Given the description of an element on the screen output the (x, y) to click on. 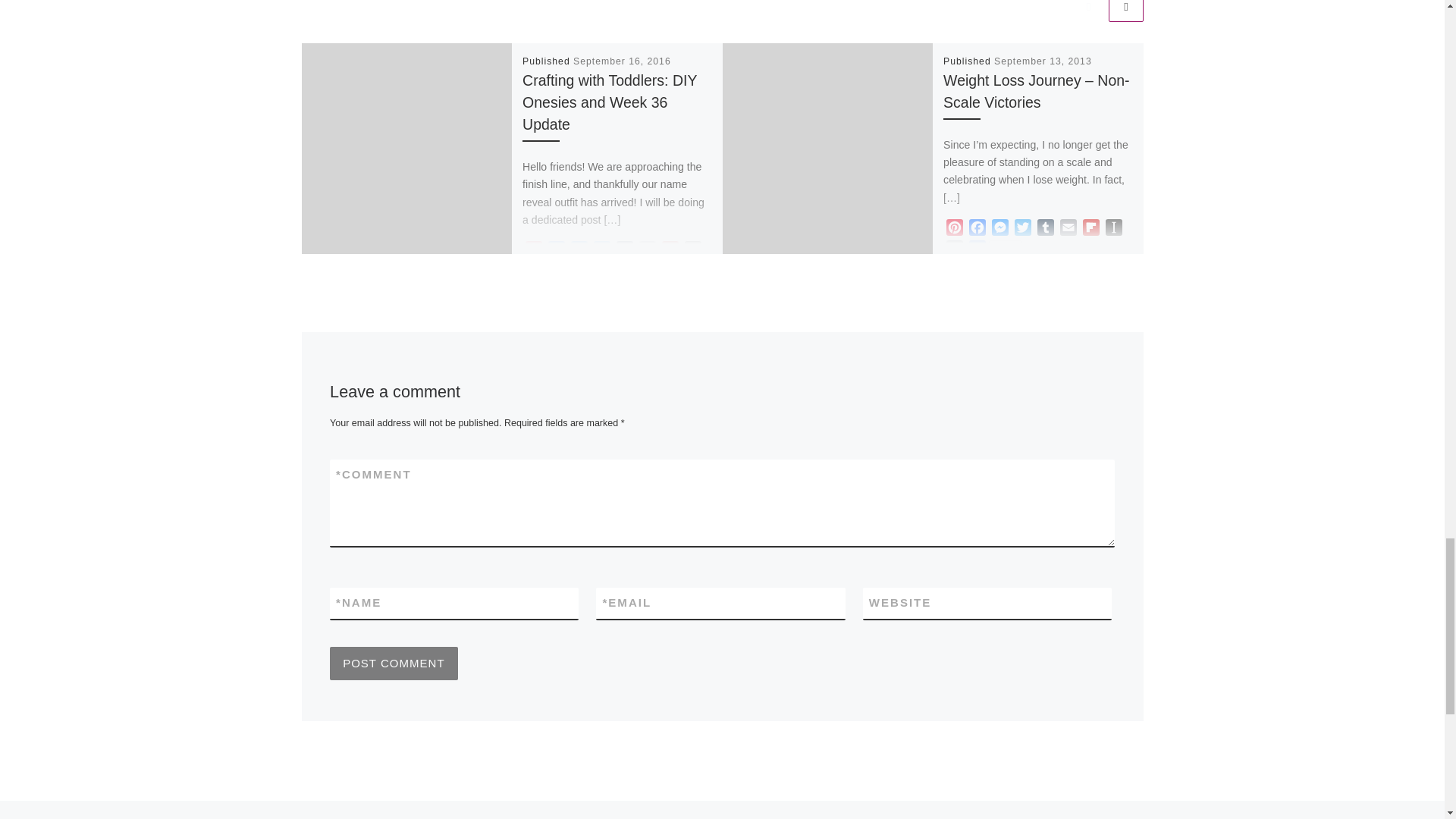
Post Comment (394, 663)
September 16, 2016 (622, 61)
